Given the description of an element on the screen output the (x, y) to click on. 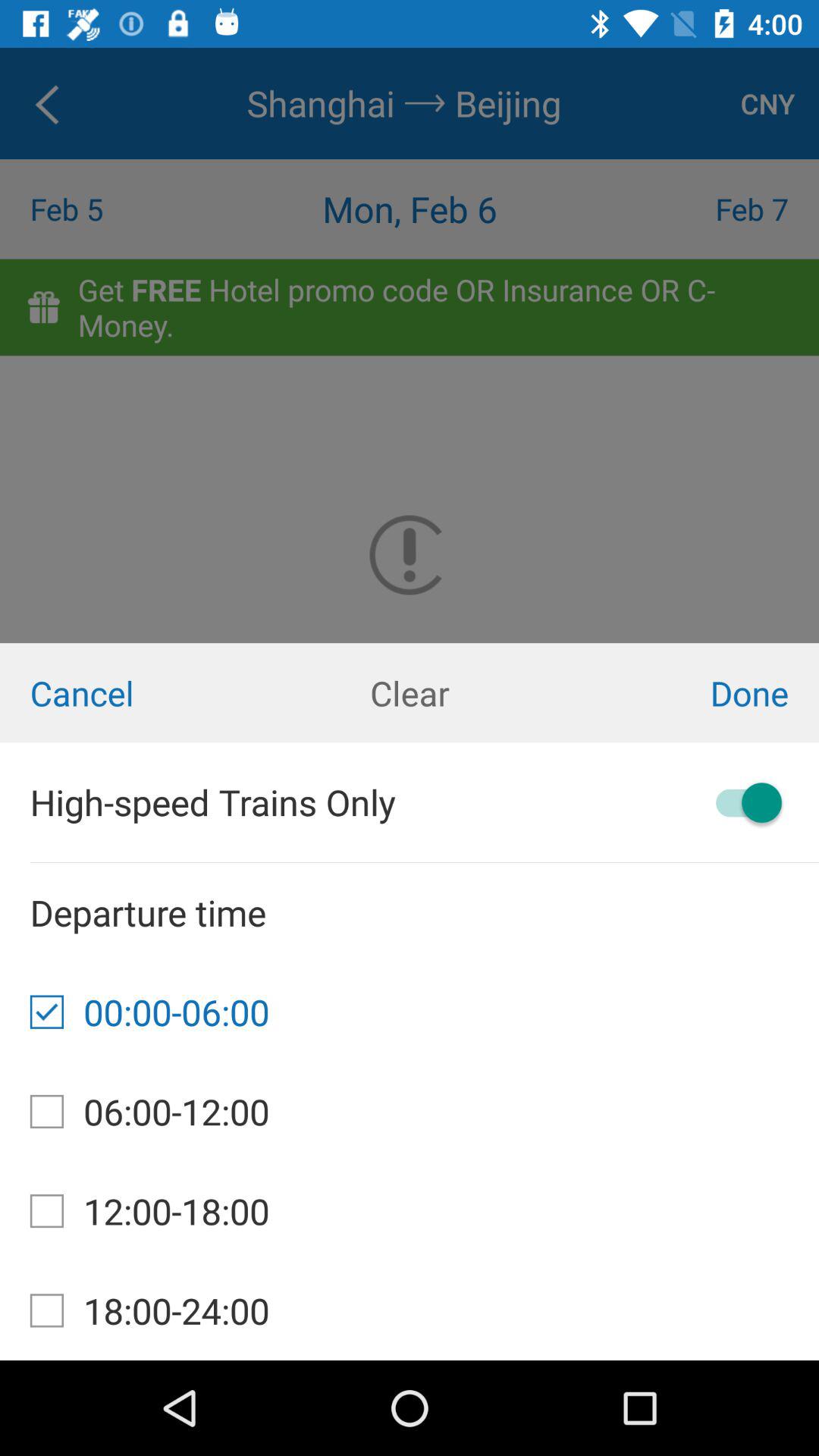
swipe to cancel item (136, 692)
